Given the description of an element on the screen output the (x, y) to click on. 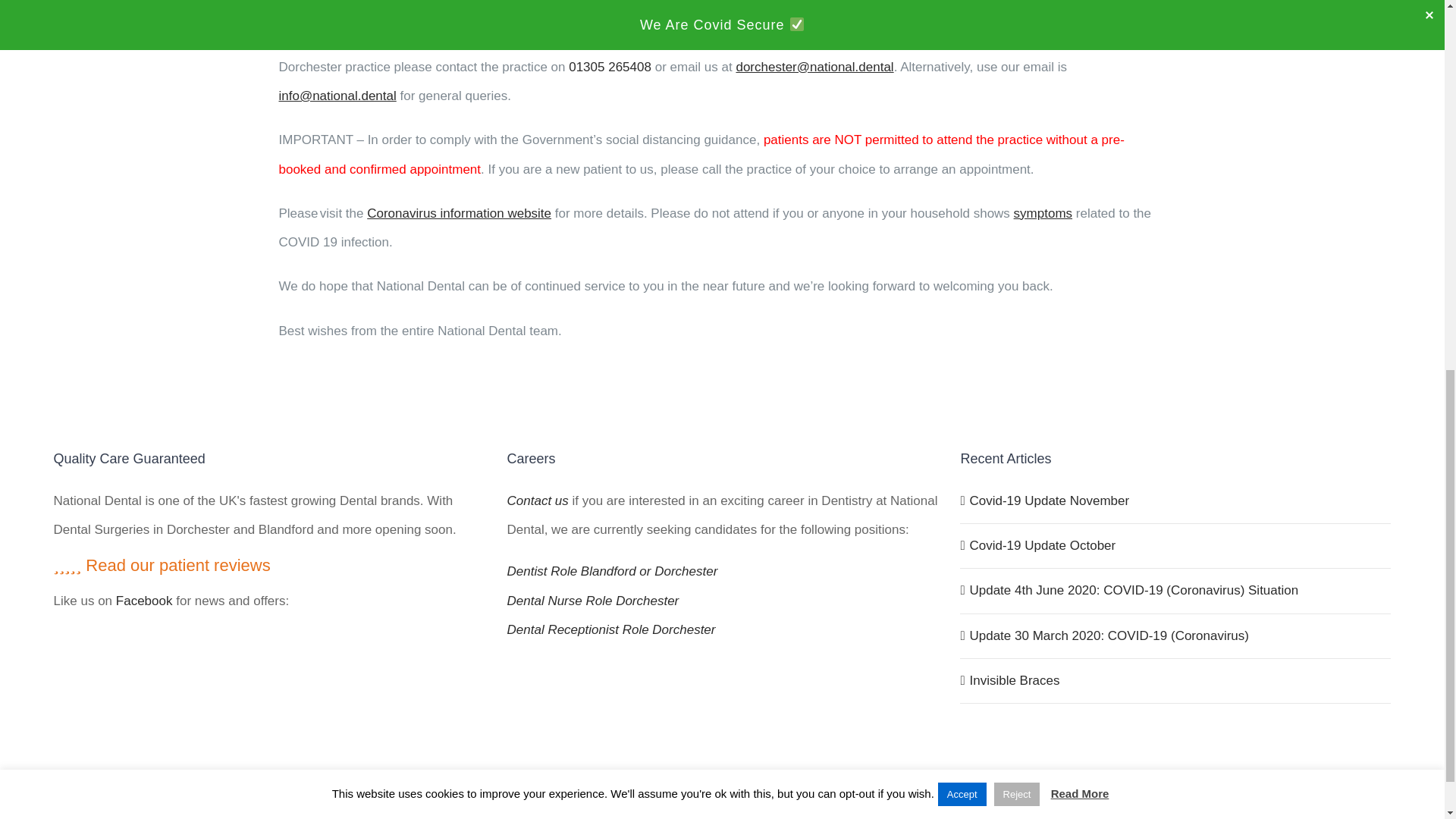
Dental Nurse Role Dorchester (721, 601)
Covid-19 Update November (1176, 500)
Dental Receptionist Role Dorchester (721, 629)
Contact us (537, 500)
Dentist Role Blandford or Dorchester (721, 571)
01258 450019 (741, 38)
Coronavirus information website (458, 213)
Facebook (144, 600)
Read our patient reviews (161, 565)
Covid-19 Update October (1176, 545)
01305 265408 (609, 66)
symptoms (1042, 213)
